Given the description of an element on the screen output the (x, y) to click on. 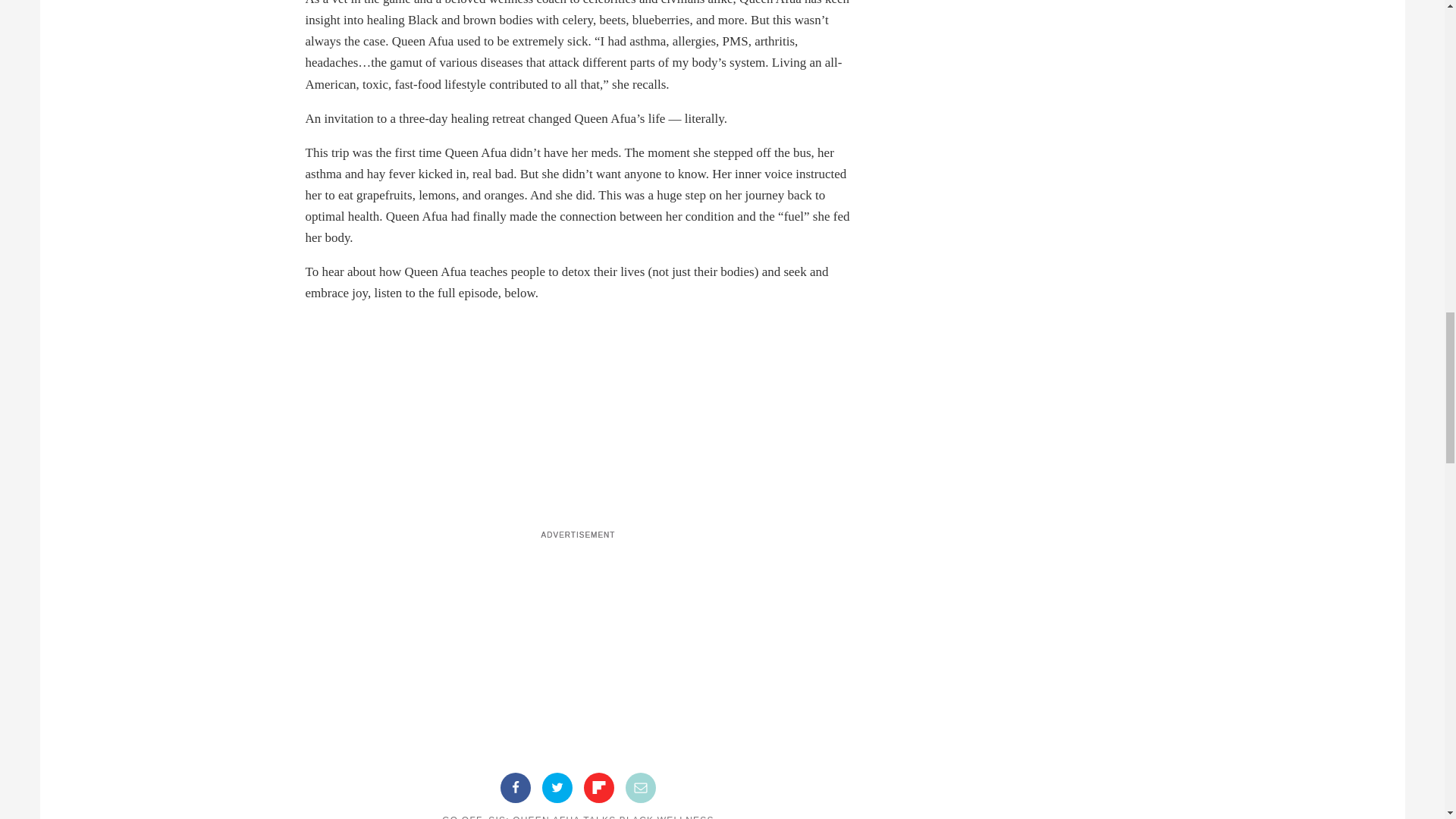
Share by Email (641, 788)
Share on Flipboard (598, 788)
Share on Twitter (556, 788)
